Given the description of an element on the screen output the (x, y) to click on. 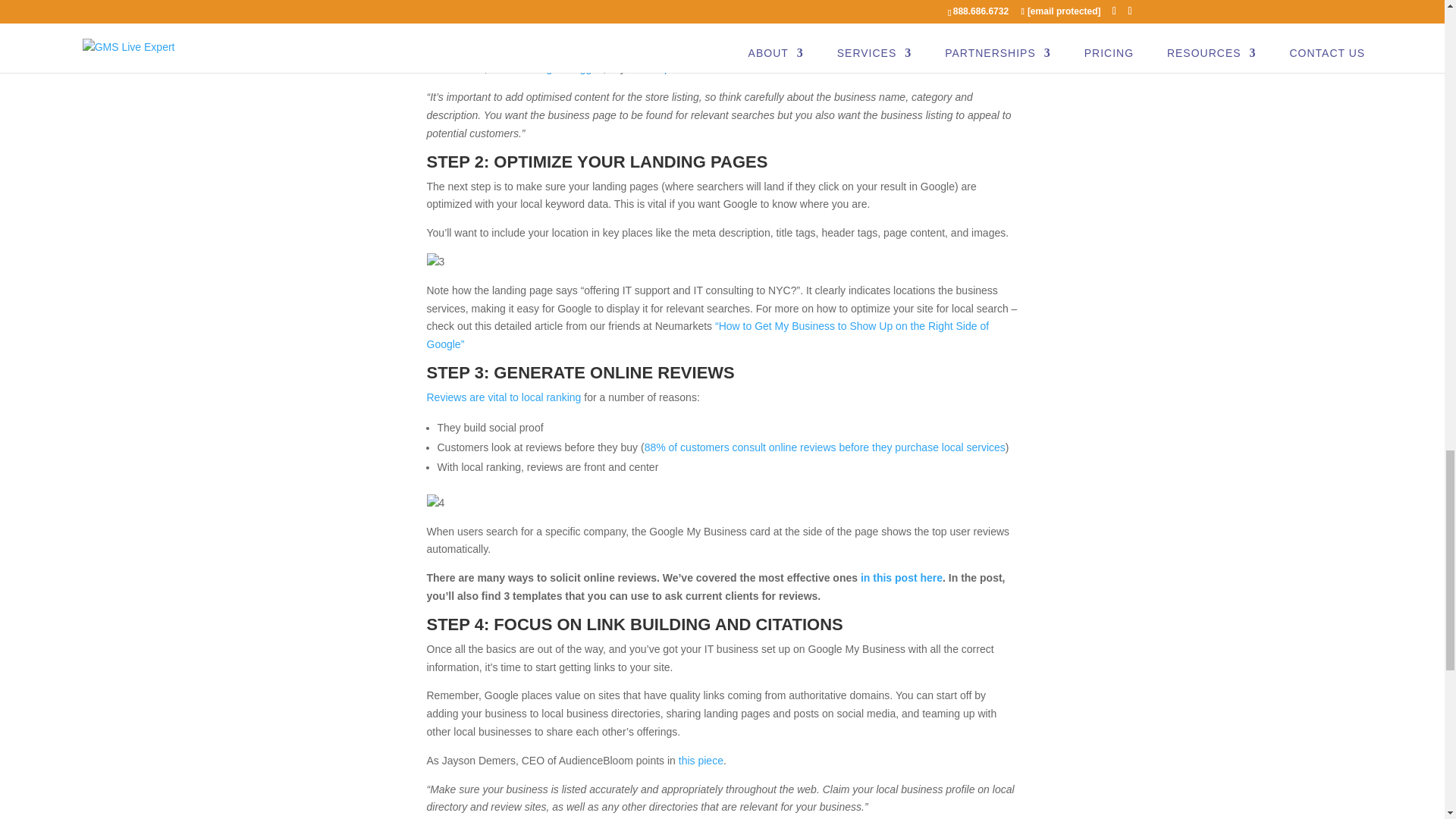
Reviews are vital to local ranking (503, 397)
Digital Juggler (568, 68)
in this post here (901, 577)
this piece (700, 760)
this piece (666, 68)
